Given the description of an element on the screen output the (x, y) to click on. 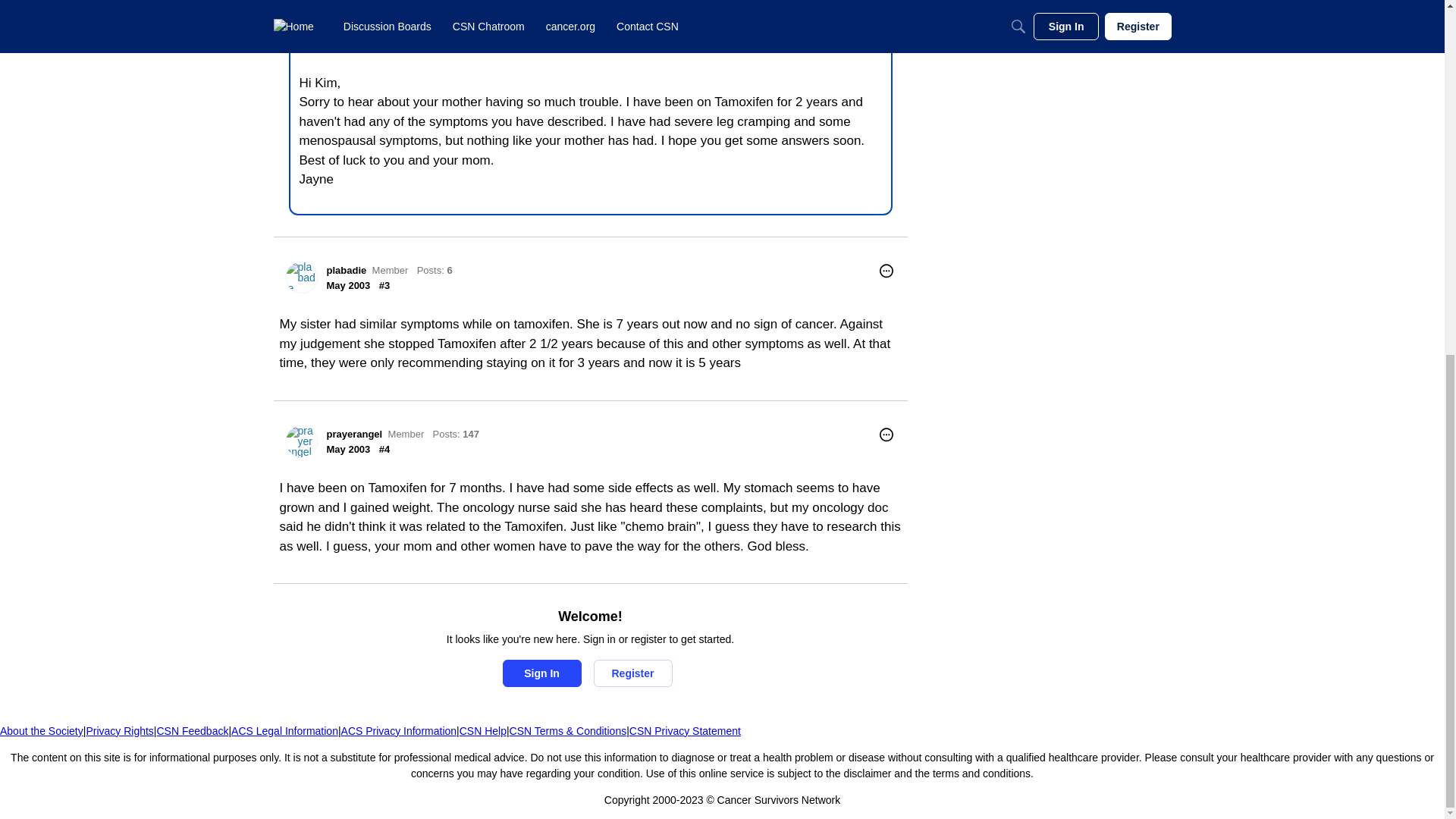
May 14, 2003 6:46AM (368, 43)
plabadie (346, 270)
Register (631, 673)
May 2003 (347, 285)
May 15, 2003 1:15AM (347, 285)
May 2003 (347, 449)
plabadie (301, 277)
prayerangel (353, 433)
isaiah4031 (371, 28)
Sign In (541, 673)
isaiah4031 (320, 35)
prayerangel (301, 441)
May 15, 2003 1:27AM (347, 449)
May 2003 (368, 43)
Sign In (541, 673)
